Given the description of an element on the screen output the (x, y) to click on. 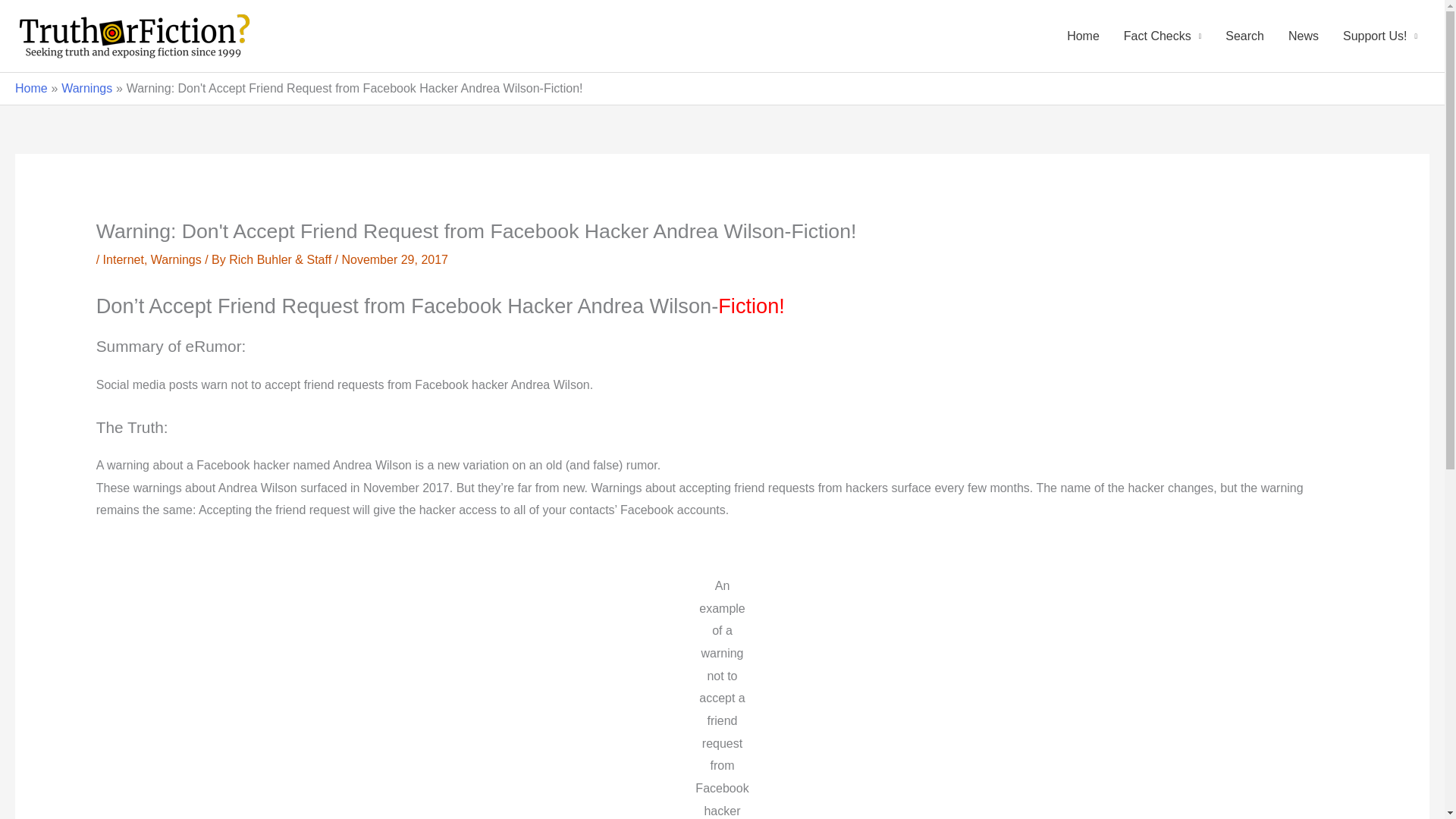
Fact Checks (1162, 36)
Home (31, 88)
Internet (123, 259)
Support Us! (1379, 36)
Warnings (86, 88)
Warnings (176, 259)
